Given the description of an element on the screen output the (x, y) to click on. 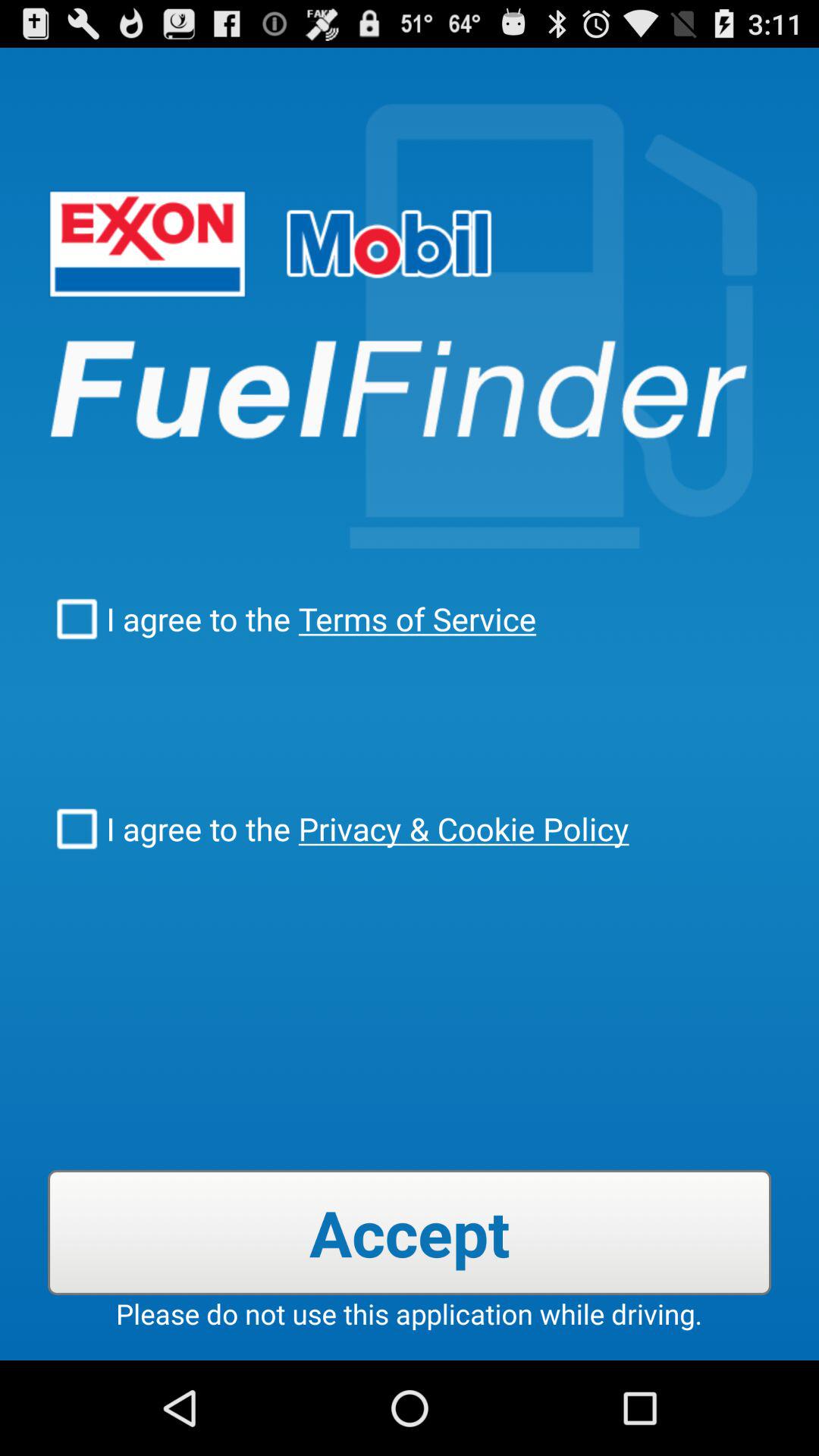
launch icon above accept button (459, 828)
